Given the description of an element on the screen output the (x, y) to click on. 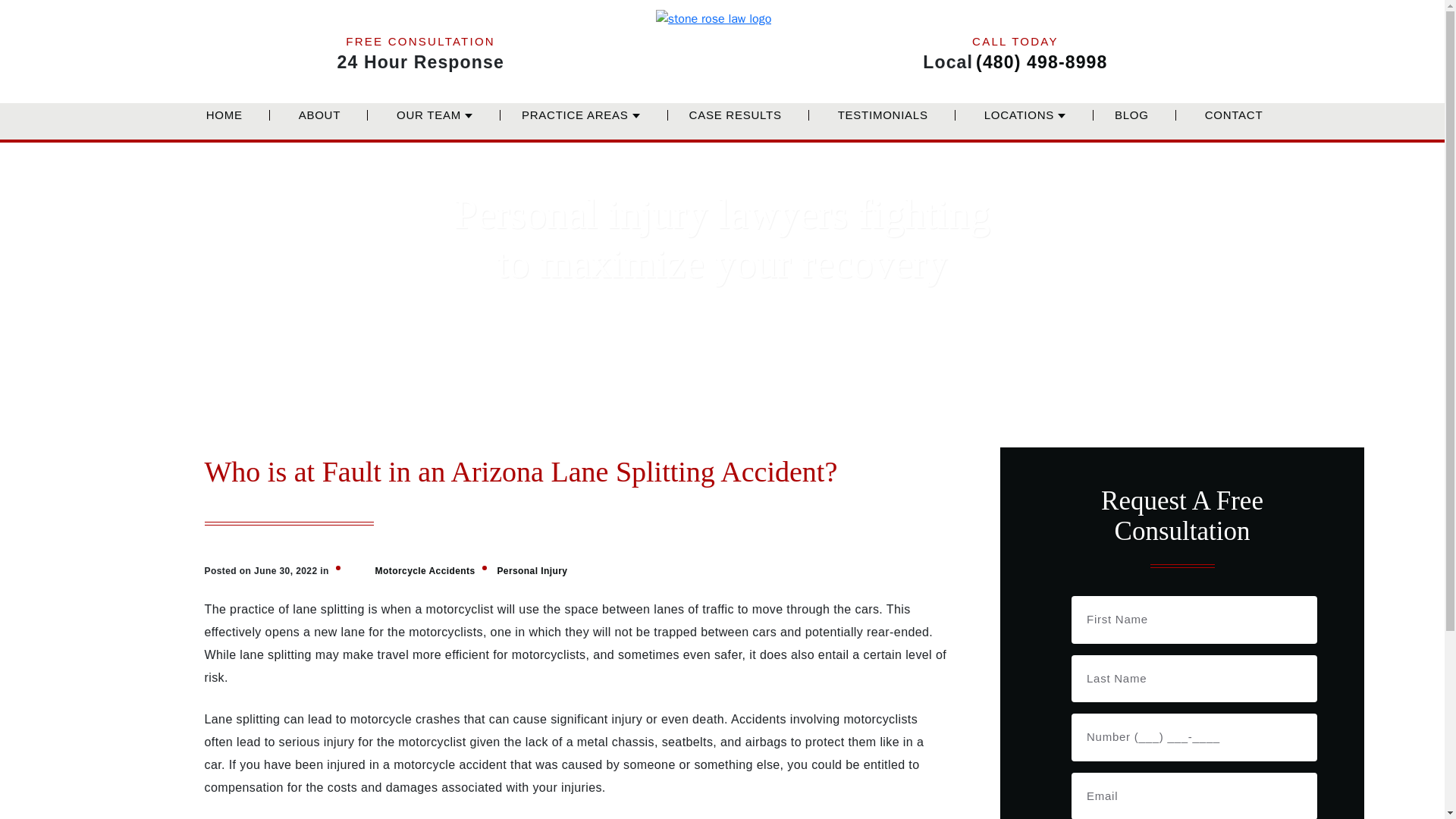
ABOUT (319, 124)
PRACTICE AREAS (574, 124)
HOME (224, 124)
OUR TEAM (428, 124)
LOCATIONS (1019, 124)
TESTIMONIALS (883, 124)
CASE RESULTS (734, 124)
BLOG (1131, 124)
